Given the description of an element on the screen output the (x, y) to click on. 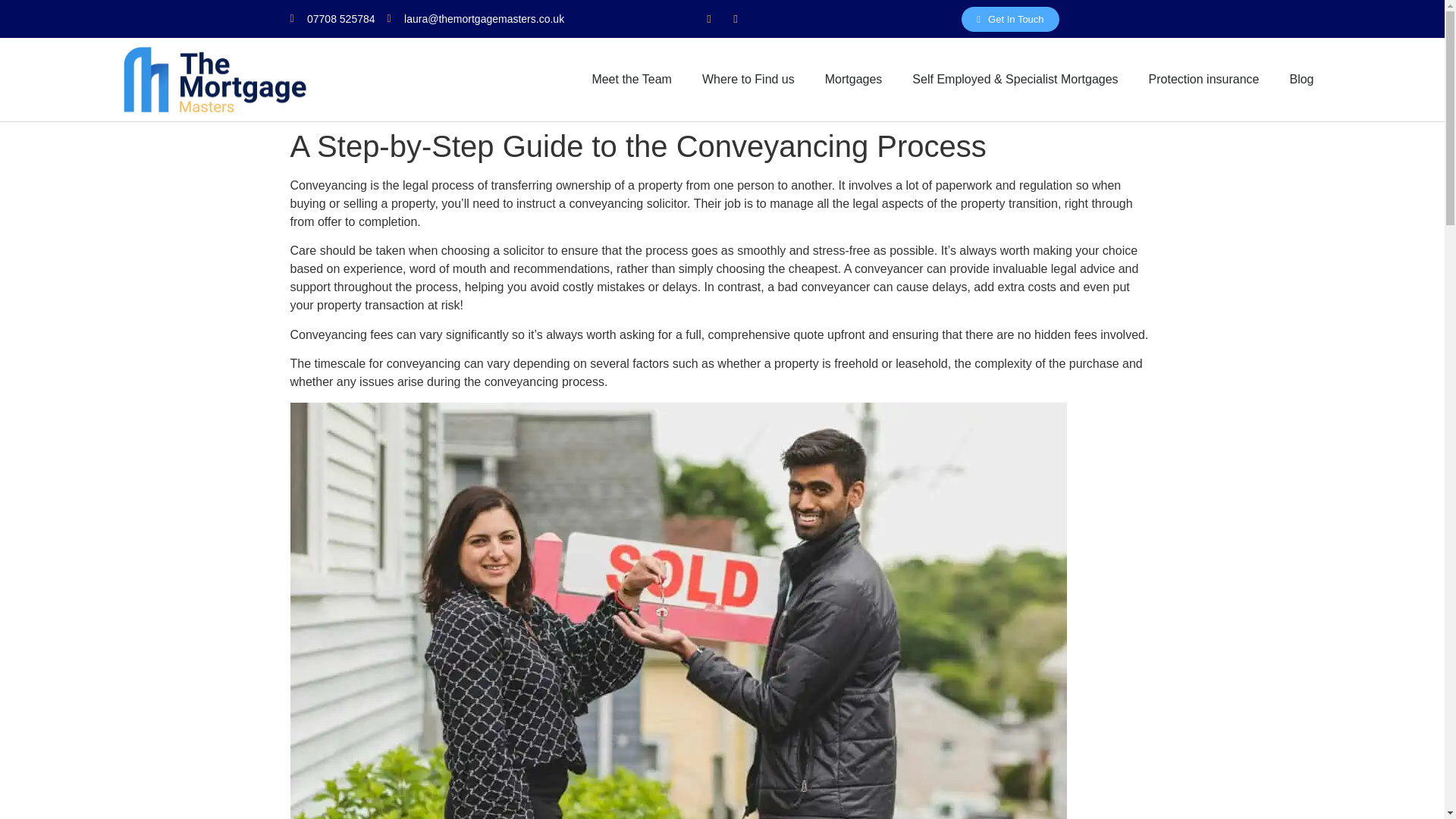
Where to Find us (748, 79)
Meet the Team (631, 79)
Mortgages (853, 79)
07708 525784 (331, 18)
Get In Touch (1009, 18)
